Given the description of an element on the screen output the (x, y) to click on. 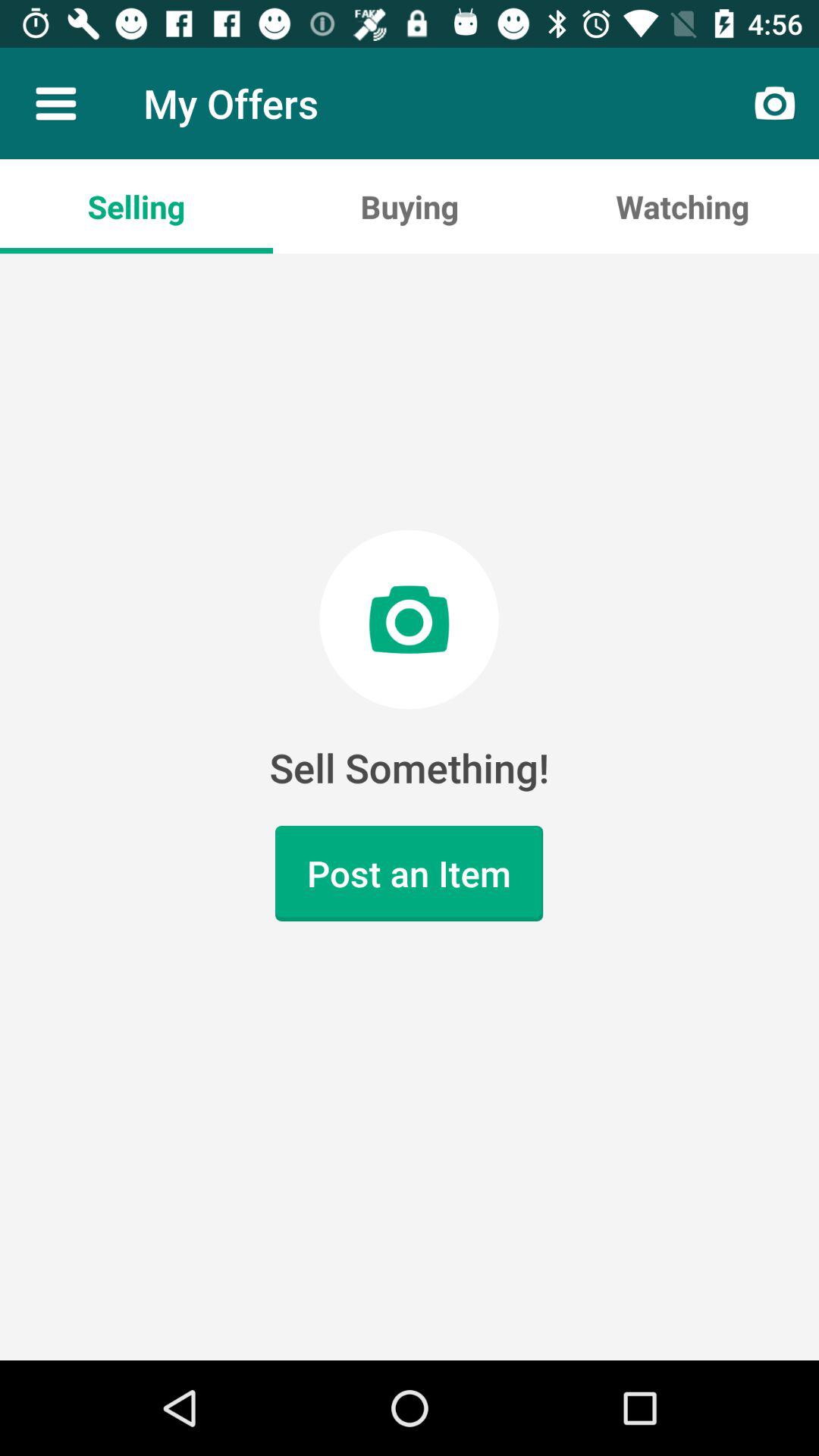
flip to the selling (136, 206)
